Given the description of an element on the screen output the (x, y) to click on. 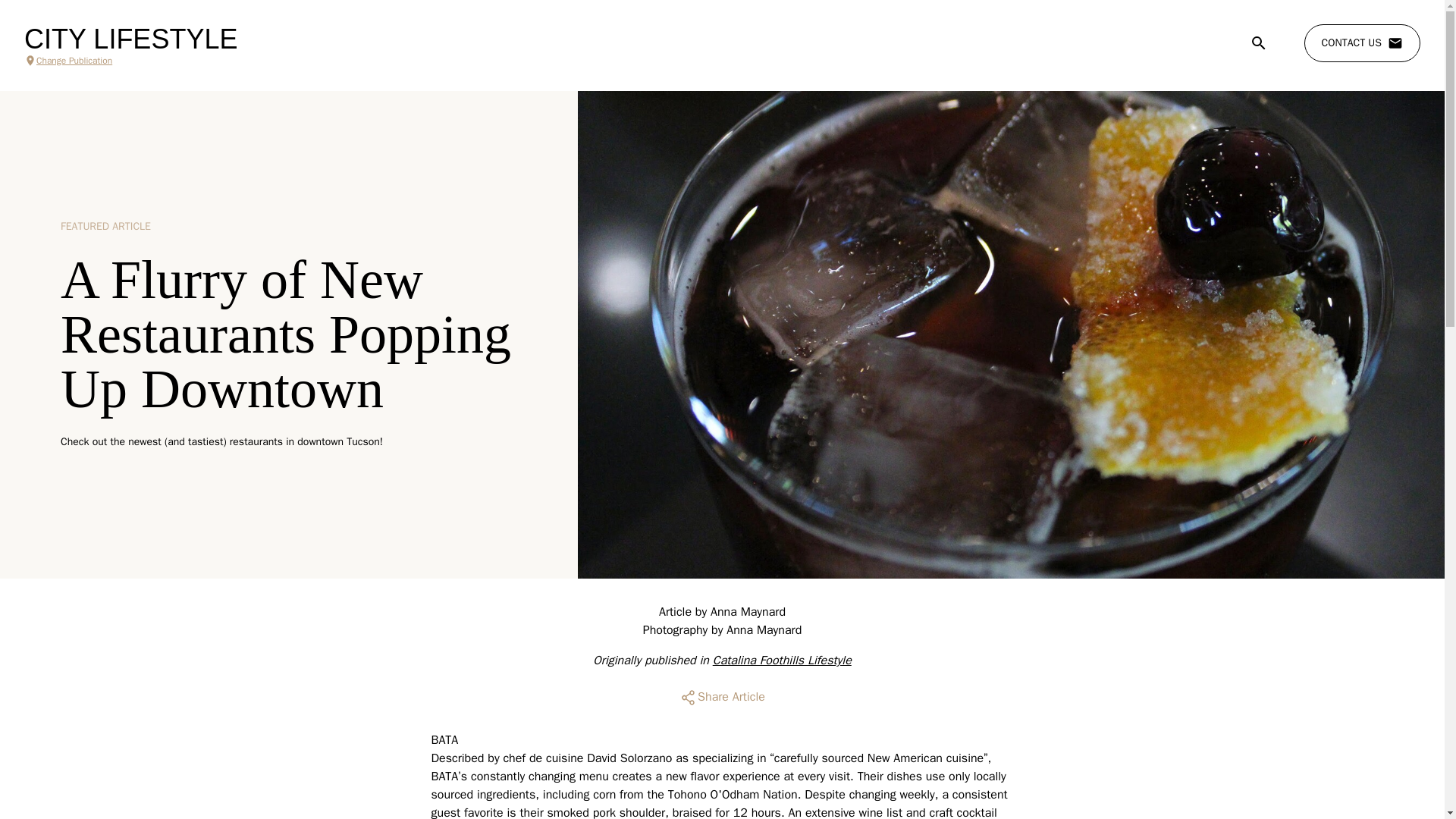
CITY LIFESTYLE (130, 39)
Share Article (722, 696)
CONTACT US (1362, 43)
Change Publication (130, 60)
Catalina Foothills Lifestyle (782, 660)
